Given the description of an element on the screen output the (x, y) to click on. 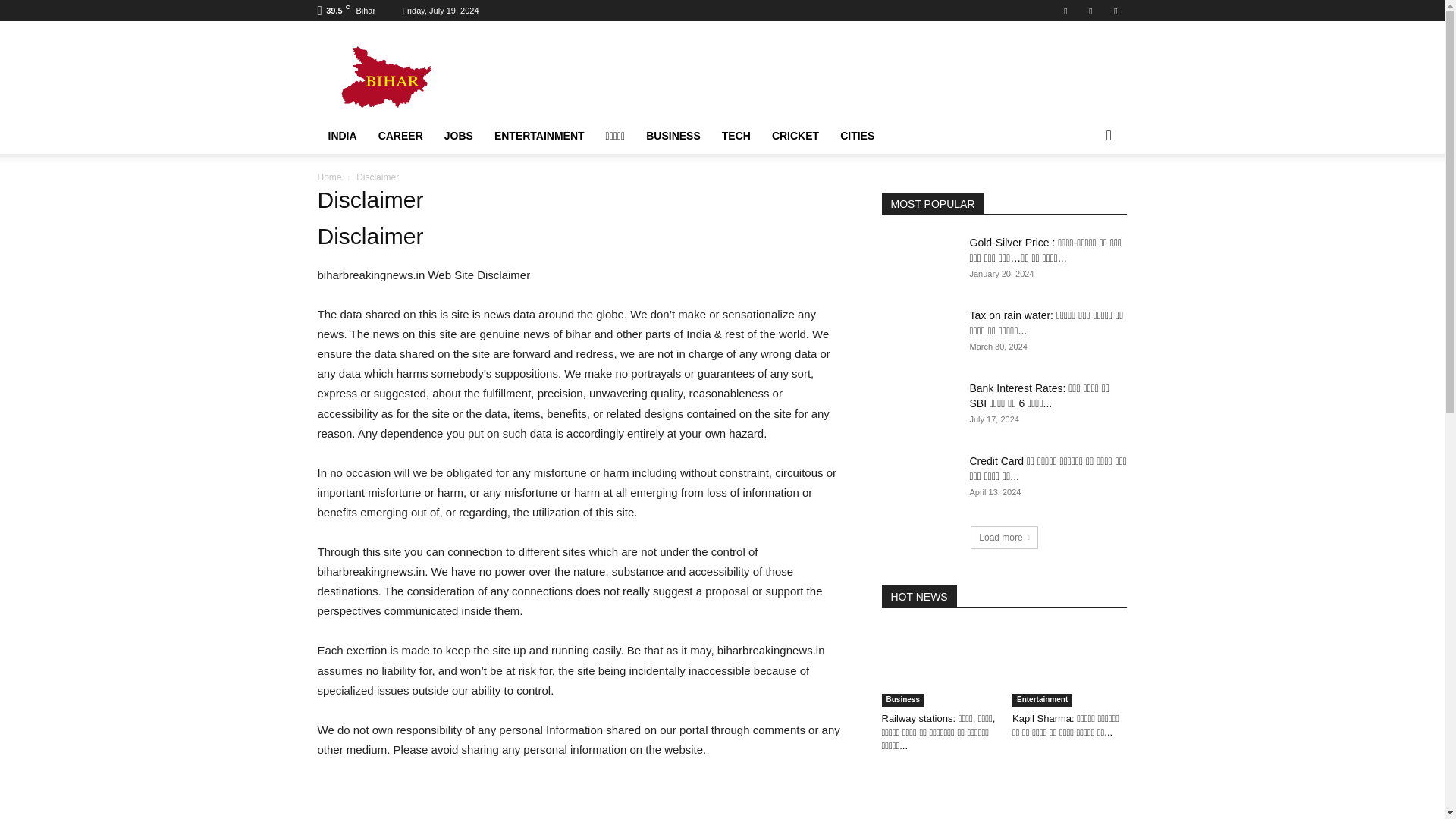
bihar breaking news (445, 76)
Telegram (1090, 10)
Facebook (1065, 10)
Twitter (1114, 10)
